Given the description of an element on the screen output the (x, y) to click on. 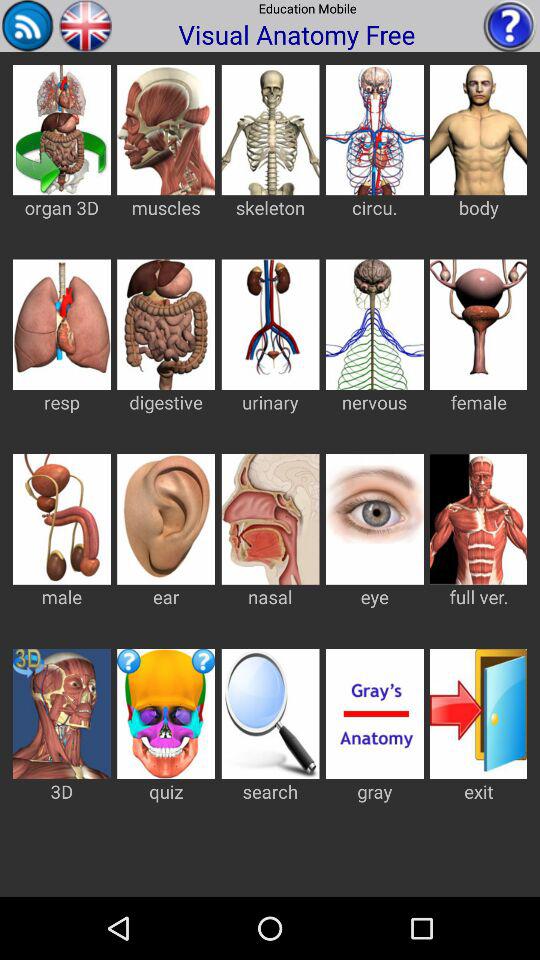
bluetooth (27, 25)
